Given the description of an element on the screen output the (x, y) to click on. 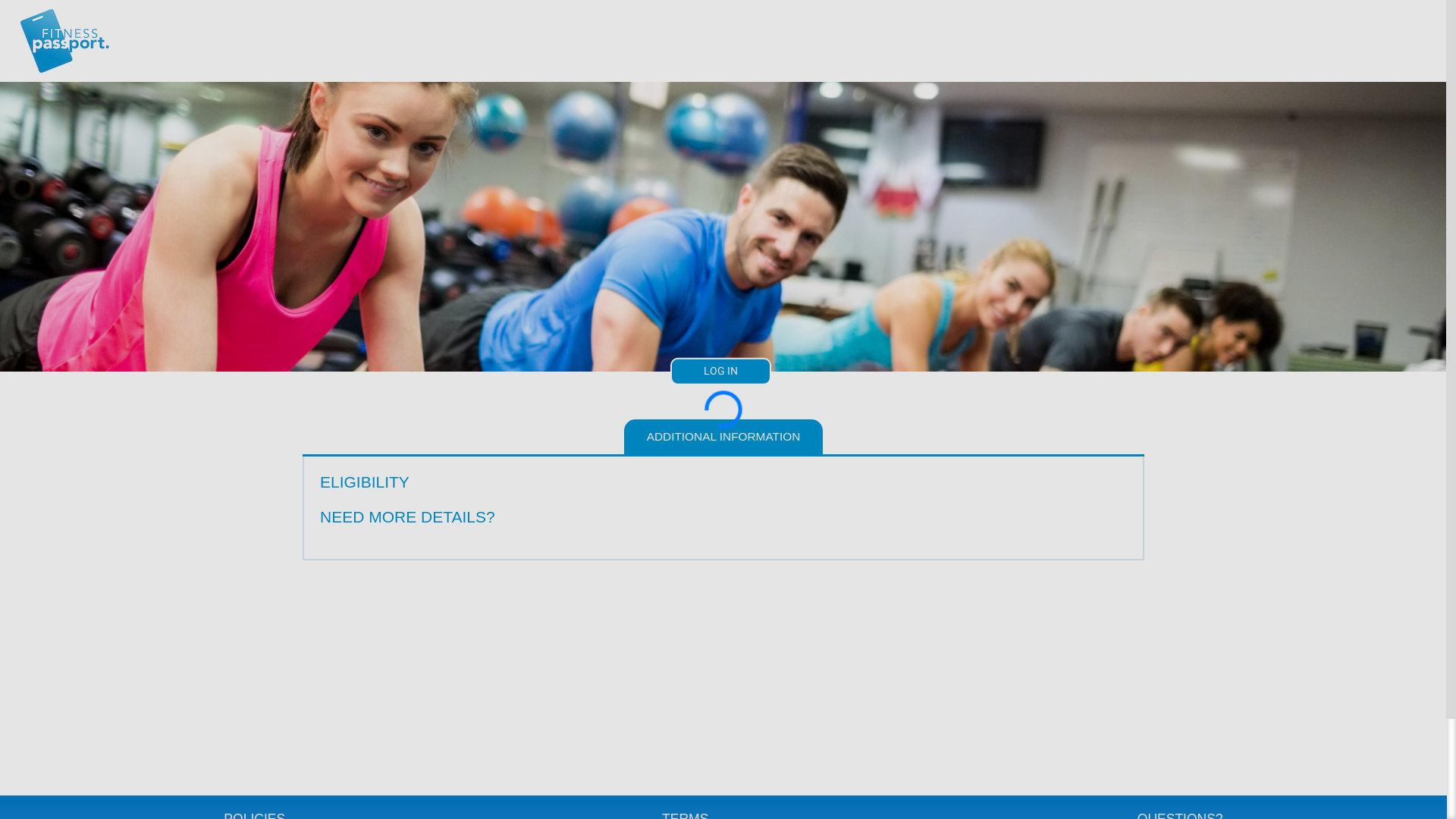
LOG IN Element type: text (720, 371)
